Given the description of an element on the screen output the (x, y) to click on. 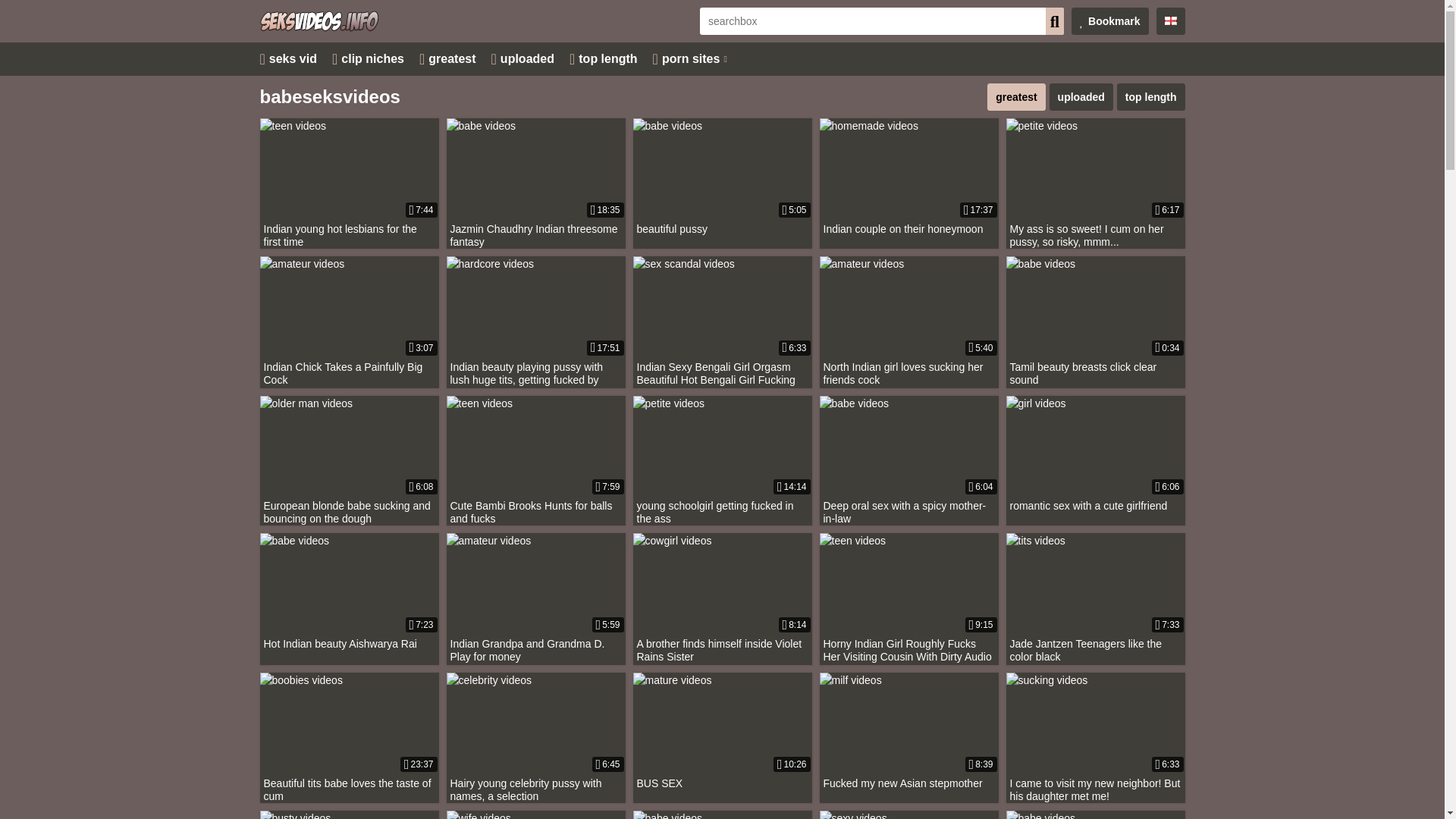
European blonde babe sucking and bouncing on the dough (348, 460)
beautiful pussy (720, 176)
porn sites (689, 58)
Tamil beauty breasts click clear sound (1095, 321)
A brother finds himself inside Violet Rains Sister (720, 598)
uploaded (1081, 96)
Indian Grandpa and Grandma D. Play for money (534, 598)
My ass is so sweet! I cum on her pussy, so risky, mmm... (1095, 182)
Deep oral sex with a spicy mother-in-law (907, 460)
